Given the description of an element on the screen output the (x, y) to click on. 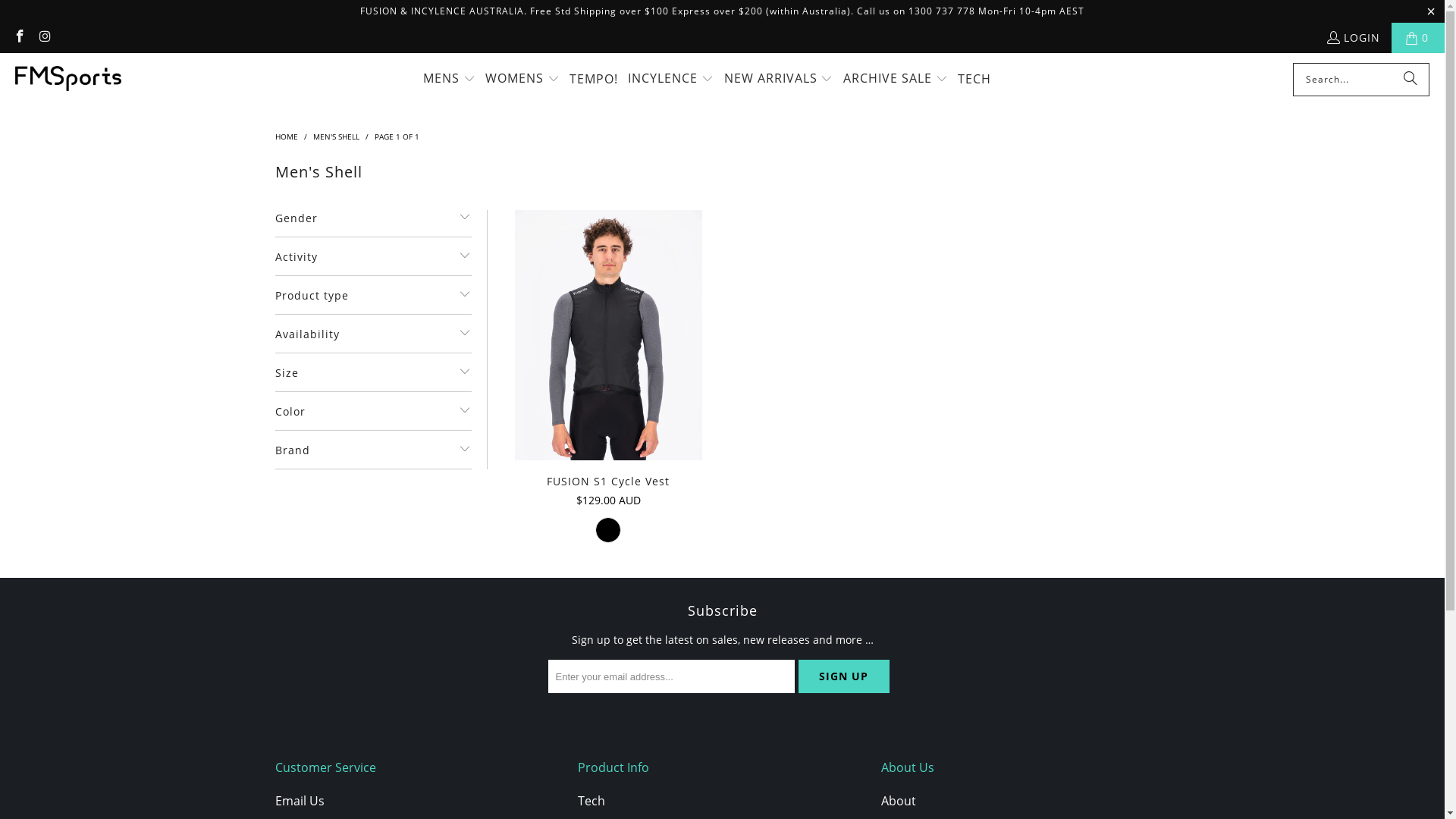
About Element type: text (898, 800)
FM Sports on Facebook Element type: hover (18, 37)
LOGIN Element type: text (1352, 37)
Email Us Element type: text (298, 800)
FM Sports on Instagram Element type: hover (44, 37)
FUSION S1 Cycle Vest
$129.00 AUD Element type: text (608, 491)
MEN'S SHELL Element type: text (335, 136)
HOME Element type: text (285, 136)
Tech Element type: text (591, 800)
TECH Element type: text (974, 79)
FM Sports Element type: hover (68, 78)
Sign Up Element type: text (842, 676)
0 Element type: text (1417, 37)
TEMPO! Element type: text (593, 79)
